Given the description of an element on the screen output the (x, y) to click on. 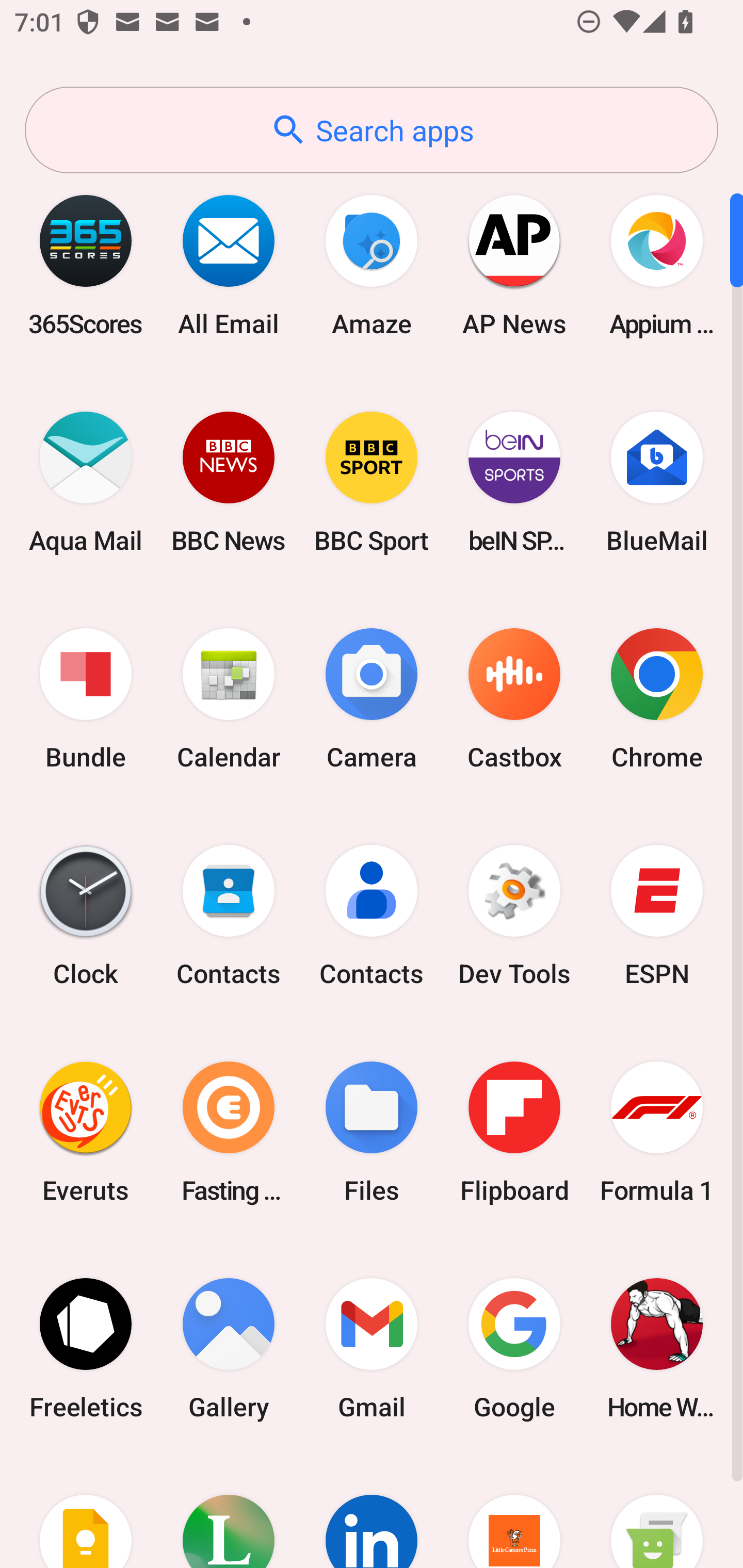
  Search apps (371, 130)
365Scores (85, 264)
All Email (228, 264)
Amaze (371, 264)
AP News (514, 264)
Appium Settings (656, 264)
Aqua Mail (85, 482)
BBC News (228, 482)
BBC Sport (371, 482)
beIN SPORTS (514, 482)
BlueMail (656, 482)
Bundle (85, 699)
Calendar (228, 699)
Camera (371, 699)
Castbox (514, 699)
Chrome (656, 699)
Clock (85, 915)
Contacts (228, 915)
Contacts (371, 915)
Dev Tools (514, 915)
ESPN (656, 915)
Everuts (85, 1131)
Fasting Coach (228, 1131)
Files (371, 1131)
Flipboard (514, 1131)
Formula 1 (656, 1131)
Freeletics (85, 1348)
Gallery (228, 1348)
Gmail (371, 1348)
Google (514, 1348)
Home Workout (656, 1348)
